Given the description of an element on the screen output the (x, y) to click on. 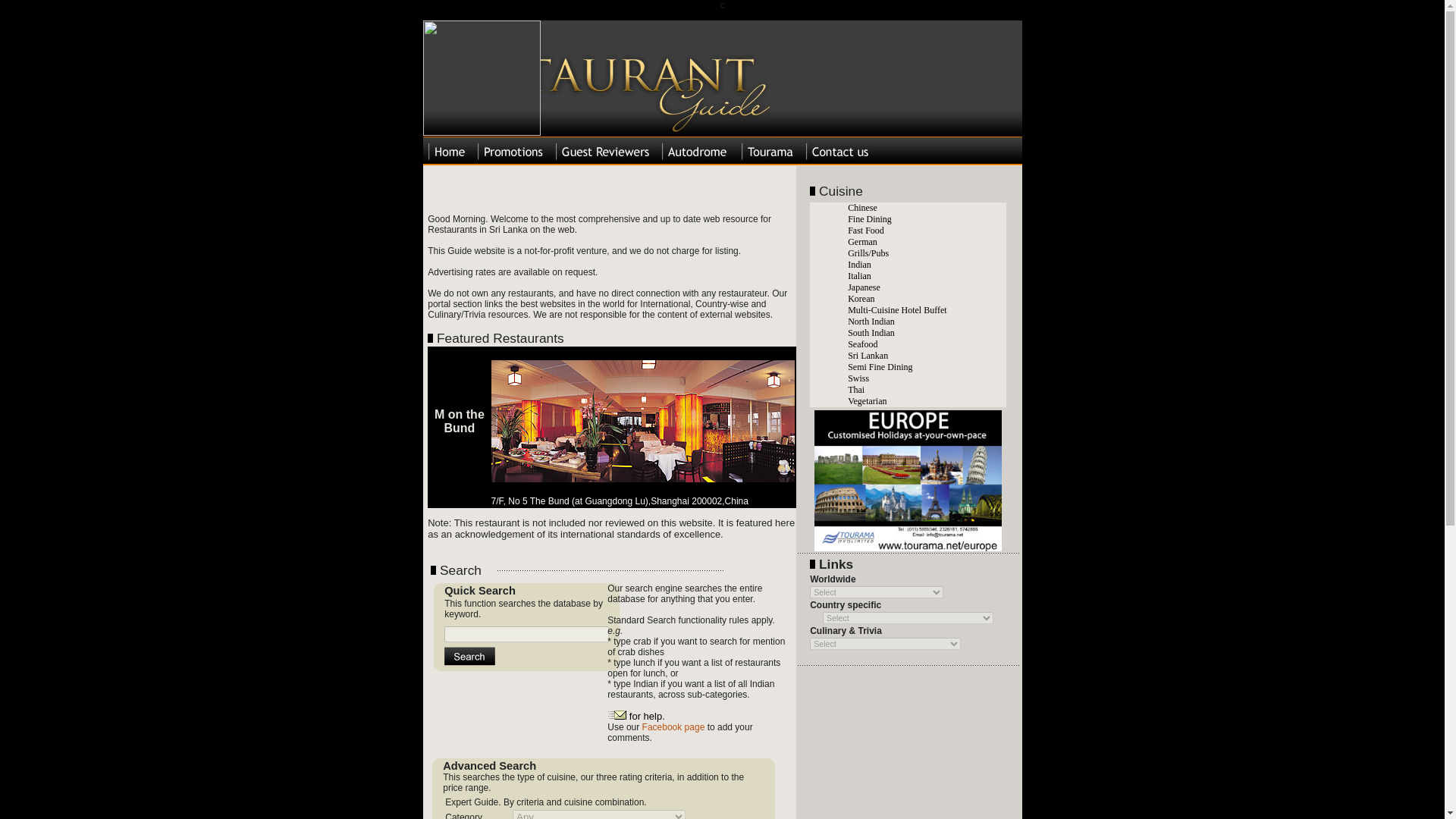
Fine Dining (865, 218)
North Indian (867, 321)
Korean (857, 298)
Thai (852, 389)
Semi Fine Dining (876, 366)
Japanese (860, 286)
South Indian (867, 332)
Chinese (858, 207)
Italian (855, 276)
Fast Food (861, 230)
